Given the description of an element on the screen output the (x, y) to click on. 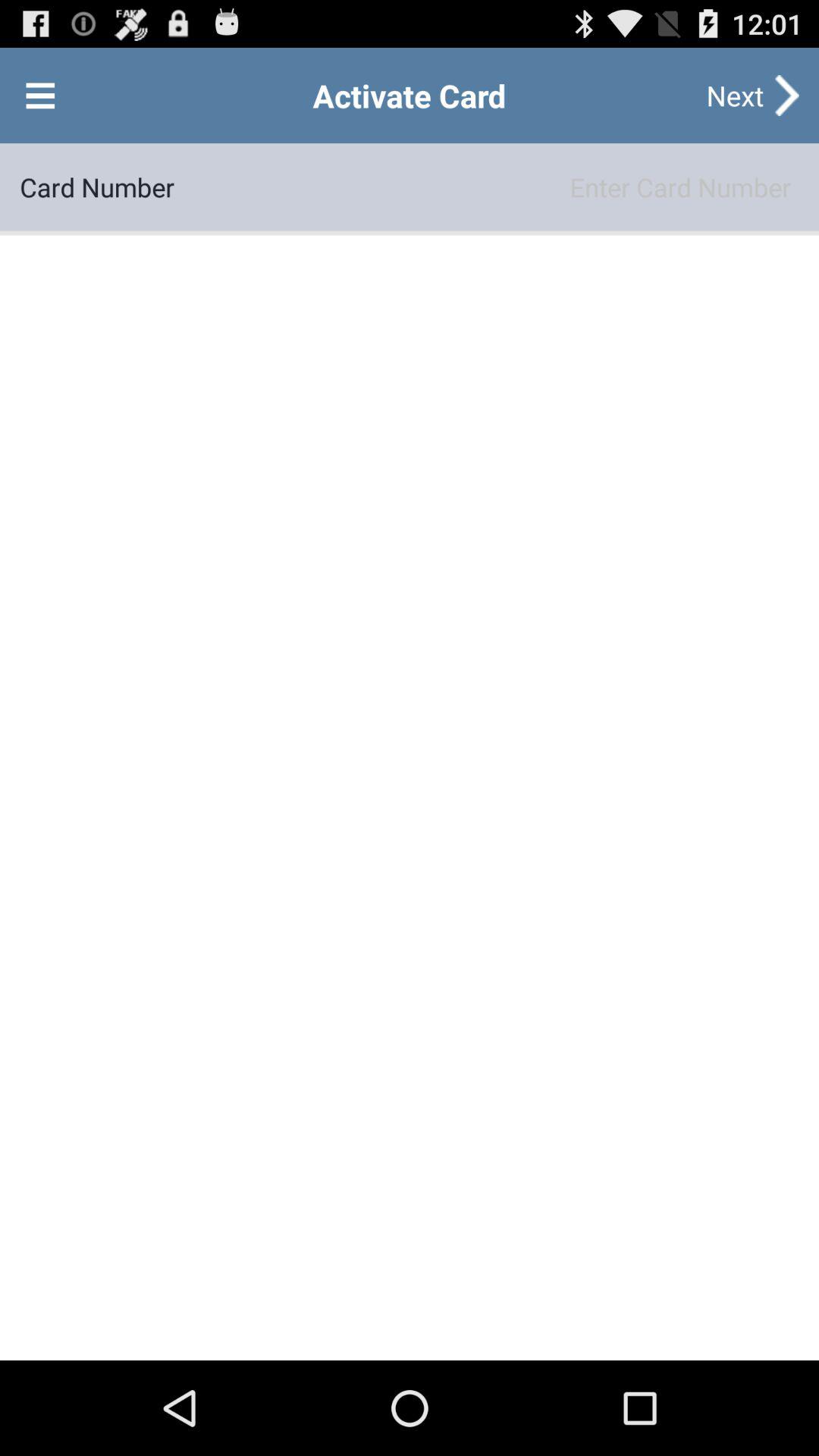
menu (39, 95)
